Given the description of an element on the screen output the (x, y) to click on. 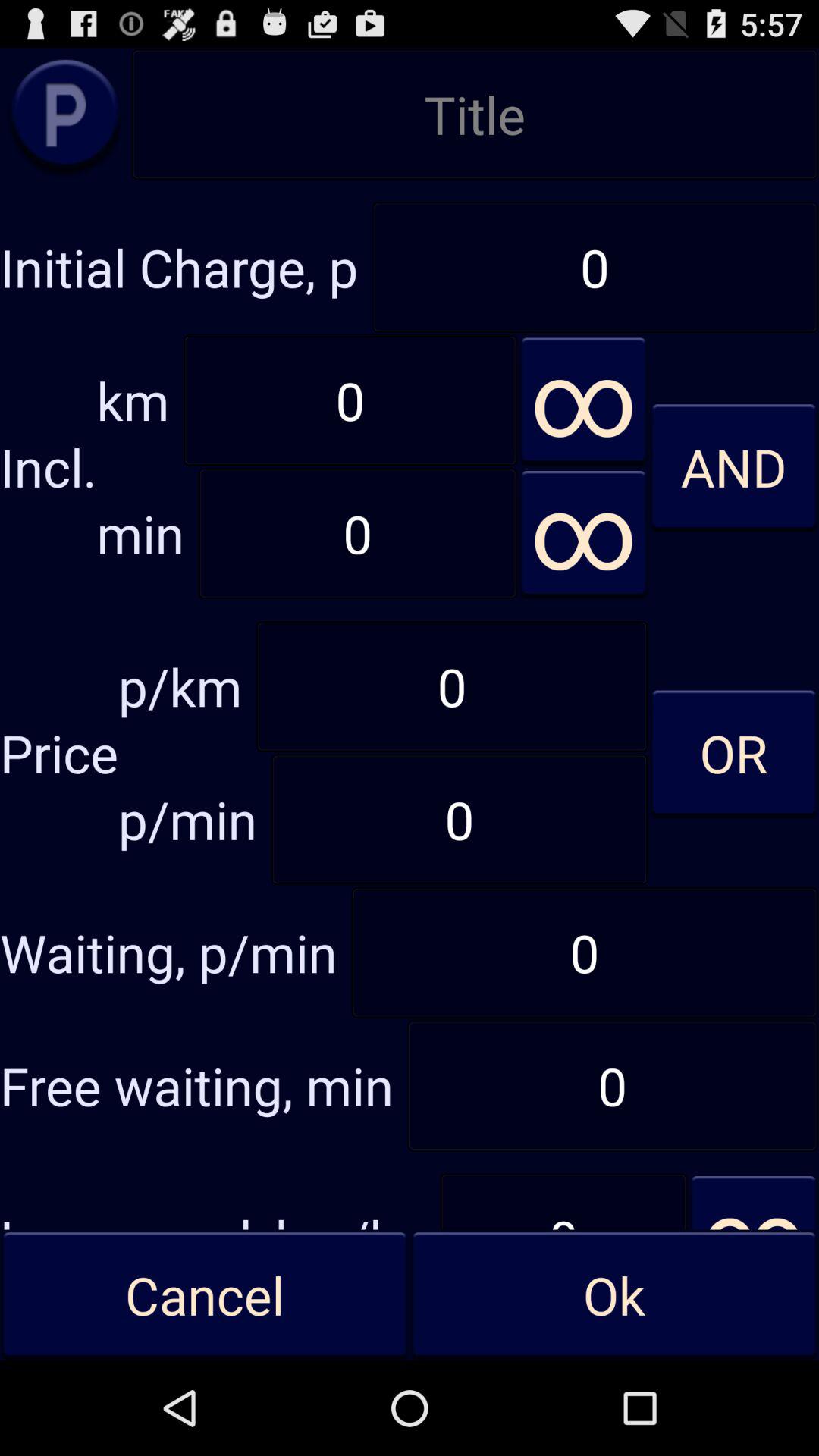
select 0 at price pkm (451, 686)
click on 0 which is beside pmin (459, 819)
click on the option which says title (474, 114)
click on or (734, 752)
